Given the description of an element on the screen output the (x, y) to click on. 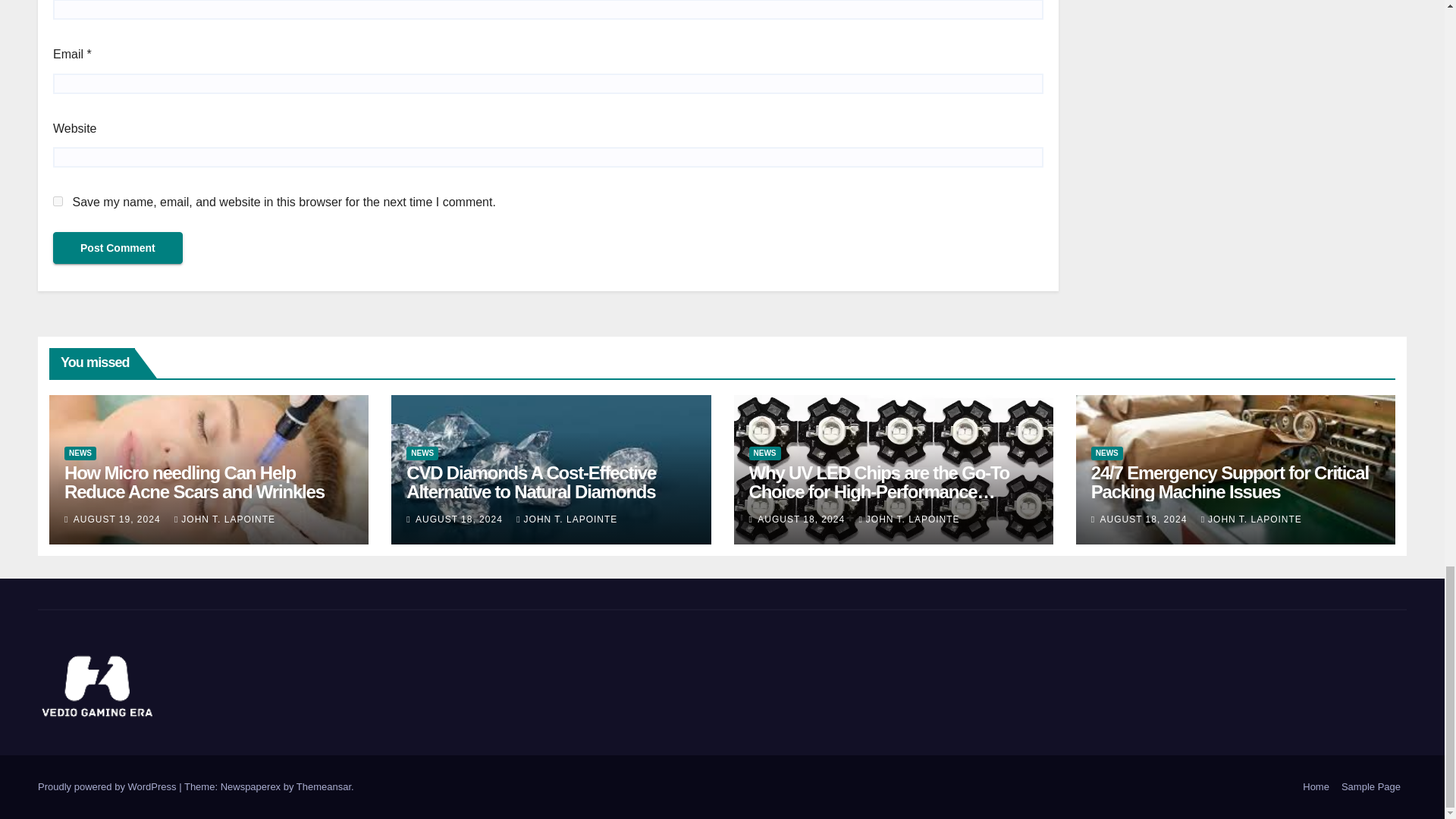
yes (57, 201)
Home (1316, 786)
Post Comment (117, 247)
